Given the description of an element on the screen output the (x, y) to click on. 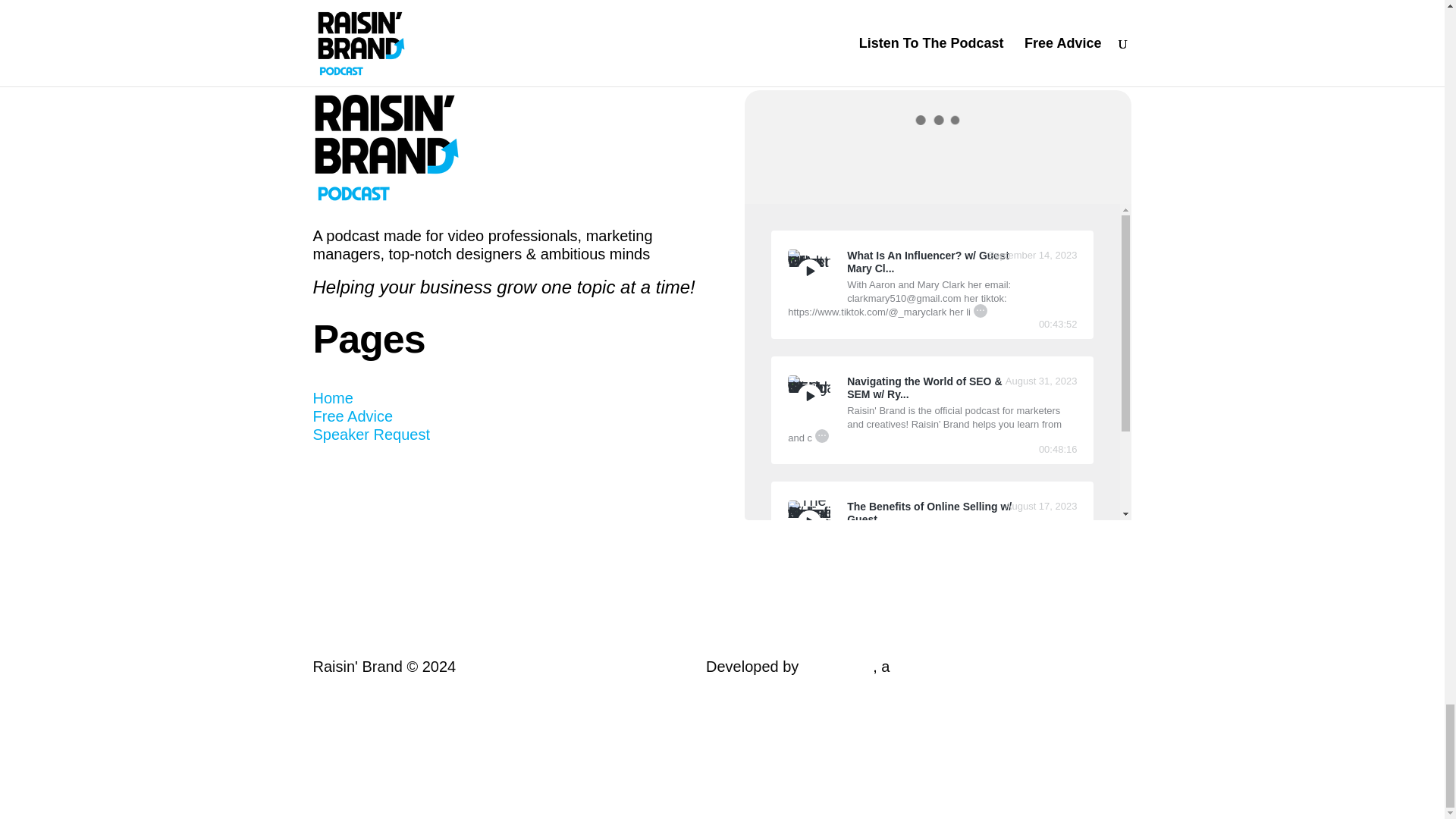
Follow on Instagram (445, 478)
Free Advice (353, 416)
Follow on TikTok (354, 478)
Speaker Request (371, 434)
Follow on Facebook (324, 478)
Home (332, 397)
Follow on Spotify (415, 478)
Follow on Youtube (384, 478)
